Given the description of an element on the screen output the (x, y) to click on. 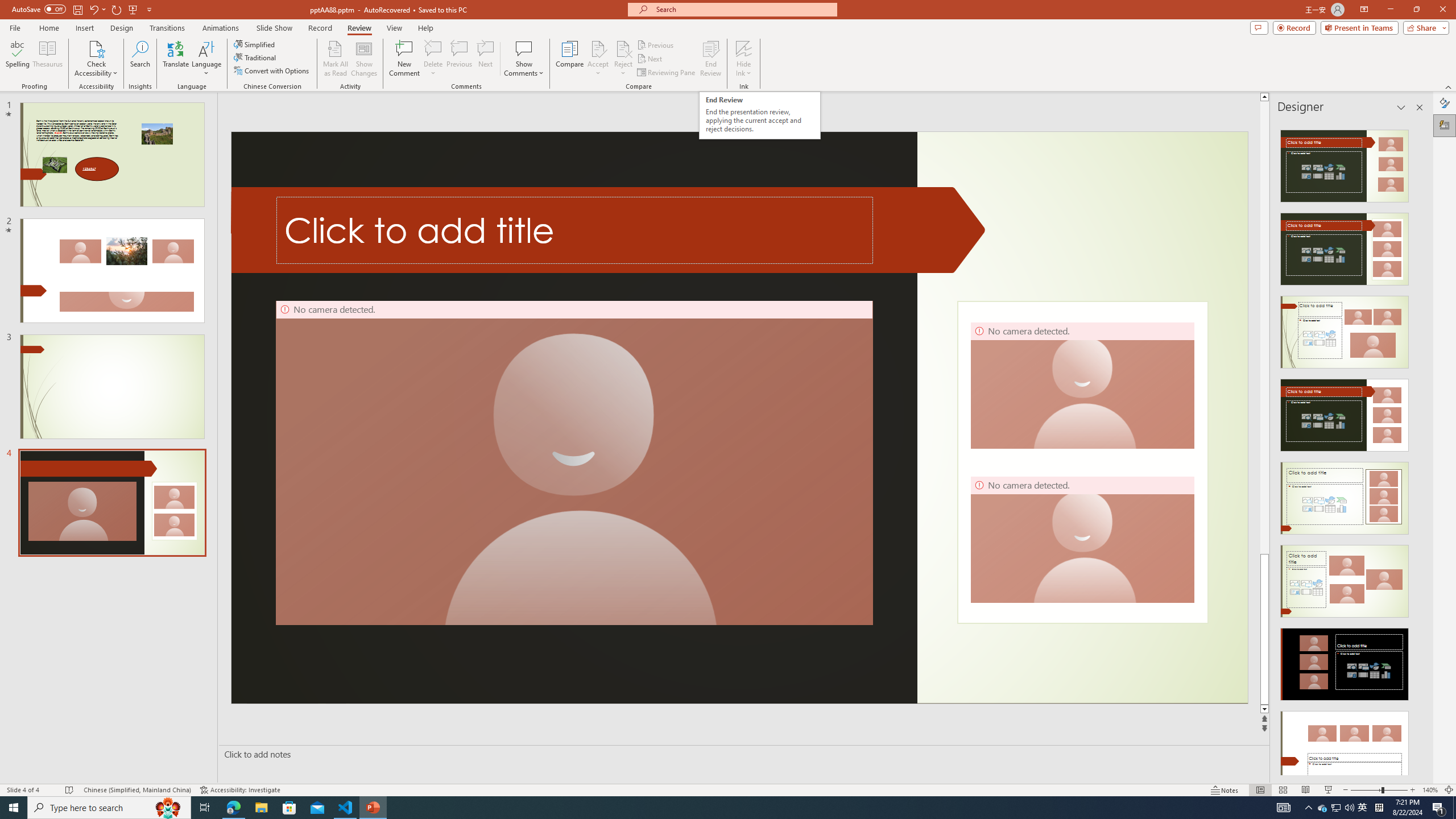
Mark All as Read (335, 58)
New Comment (403, 58)
Next (649, 58)
Compare (569, 58)
